Given the description of an element on the screen output the (x, y) to click on. 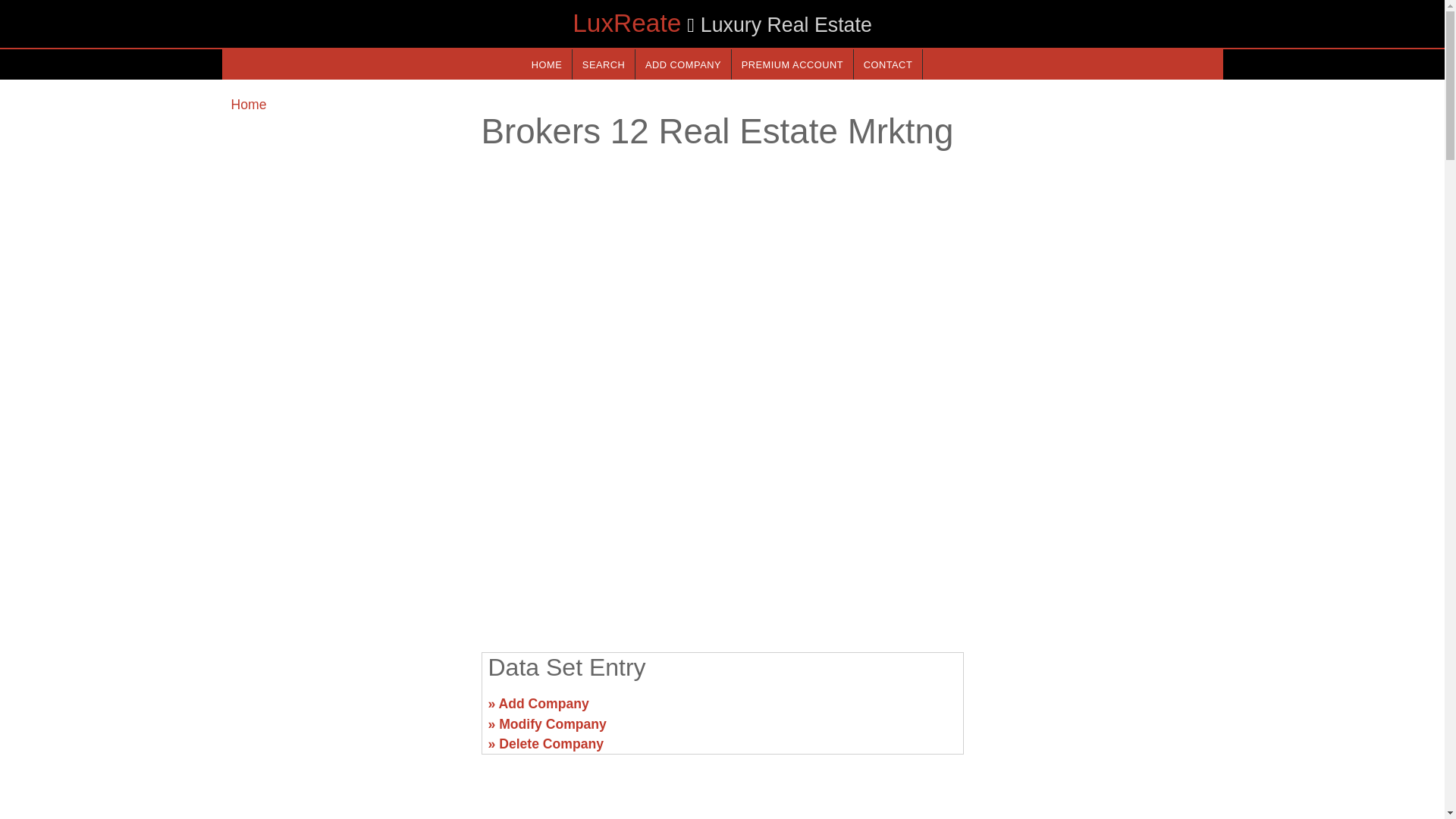
ADD COMPANY (682, 64)
PREMIUM ACCOUNT (792, 64)
HOME (546, 64)
Advertisement (721, 522)
Advertisement (1096, 710)
Add a new company (682, 64)
Premium account (792, 64)
Home (248, 104)
Search in this webseite. (603, 64)
CONTACT (887, 64)
LuxReate (626, 22)
Advertisement (346, 710)
SEARCH (603, 64)
